Given the description of an element on the screen output the (x, y) to click on. 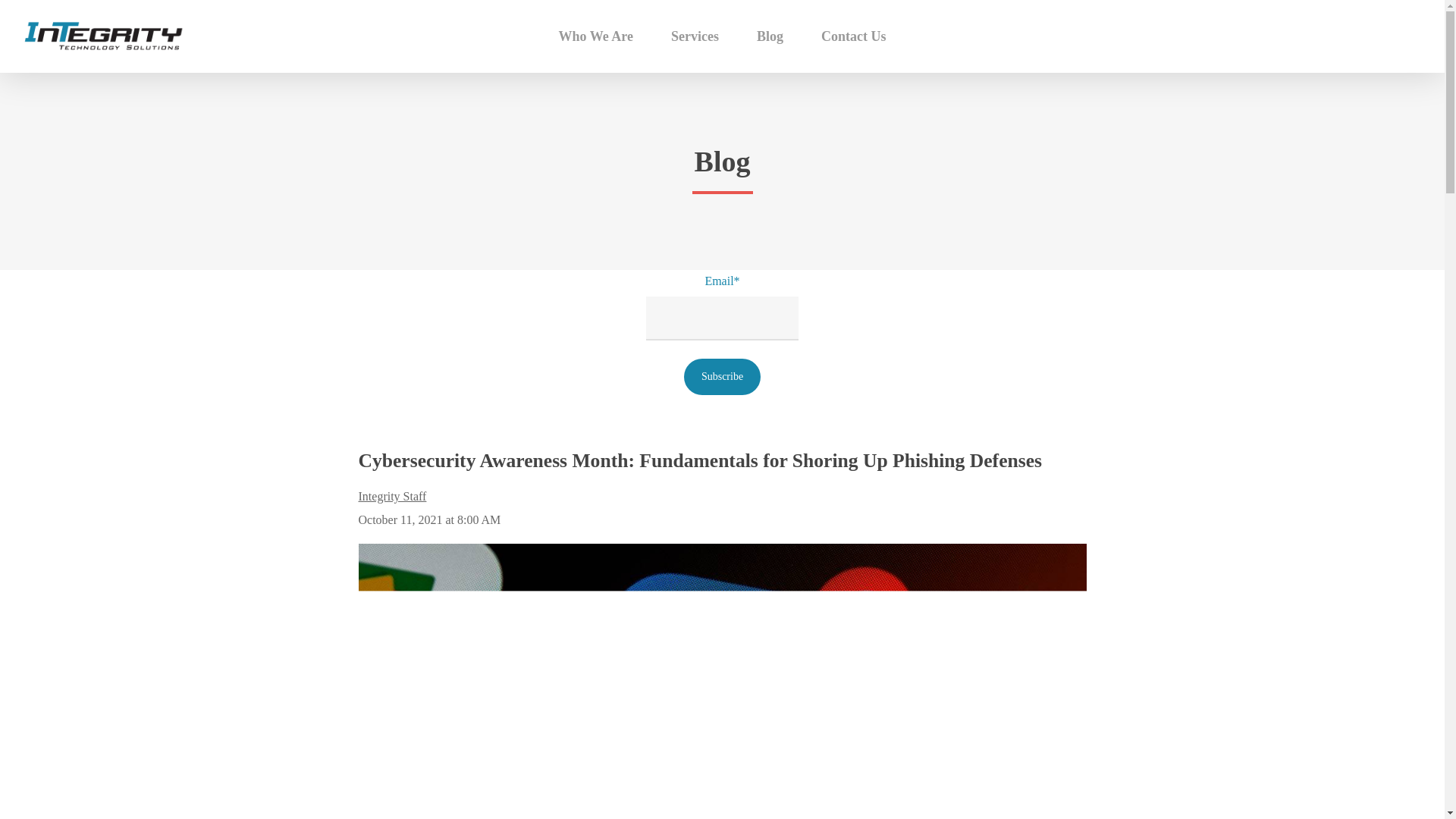
Services (695, 36)
Subscribe (722, 376)
Who We Are (596, 36)
Blog (770, 36)
Integrity Staff (392, 495)
Contact Us (853, 36)
Subscribe (722, 376)
